Given the description of an element on the screen output the (x, y) to click on. 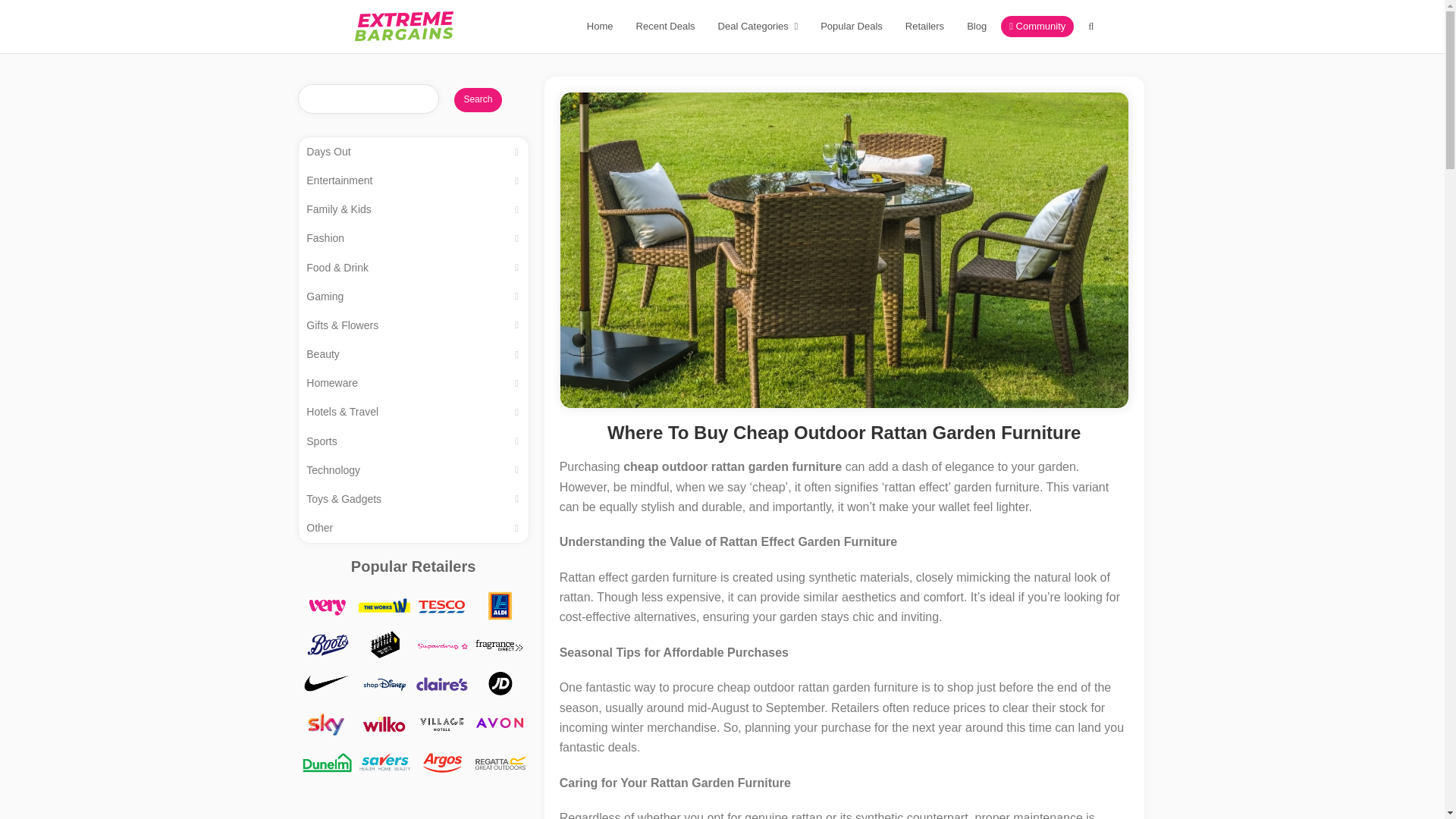
Homeware (413, 383)
Home (599, 26)
Gaming (413, 296)
aldi (499, 618)
avob (499, 735)
Search (477, 100)
very-p45p3bsirhsnlgdf2w39ds8gjho7pmzh4iykuxnsn6 (326, 618)
ts (384, 657)
Blog (976, 26)
Entertainment (413, 181)
